Given the description of an element on the screen output the (x, y) to click on. 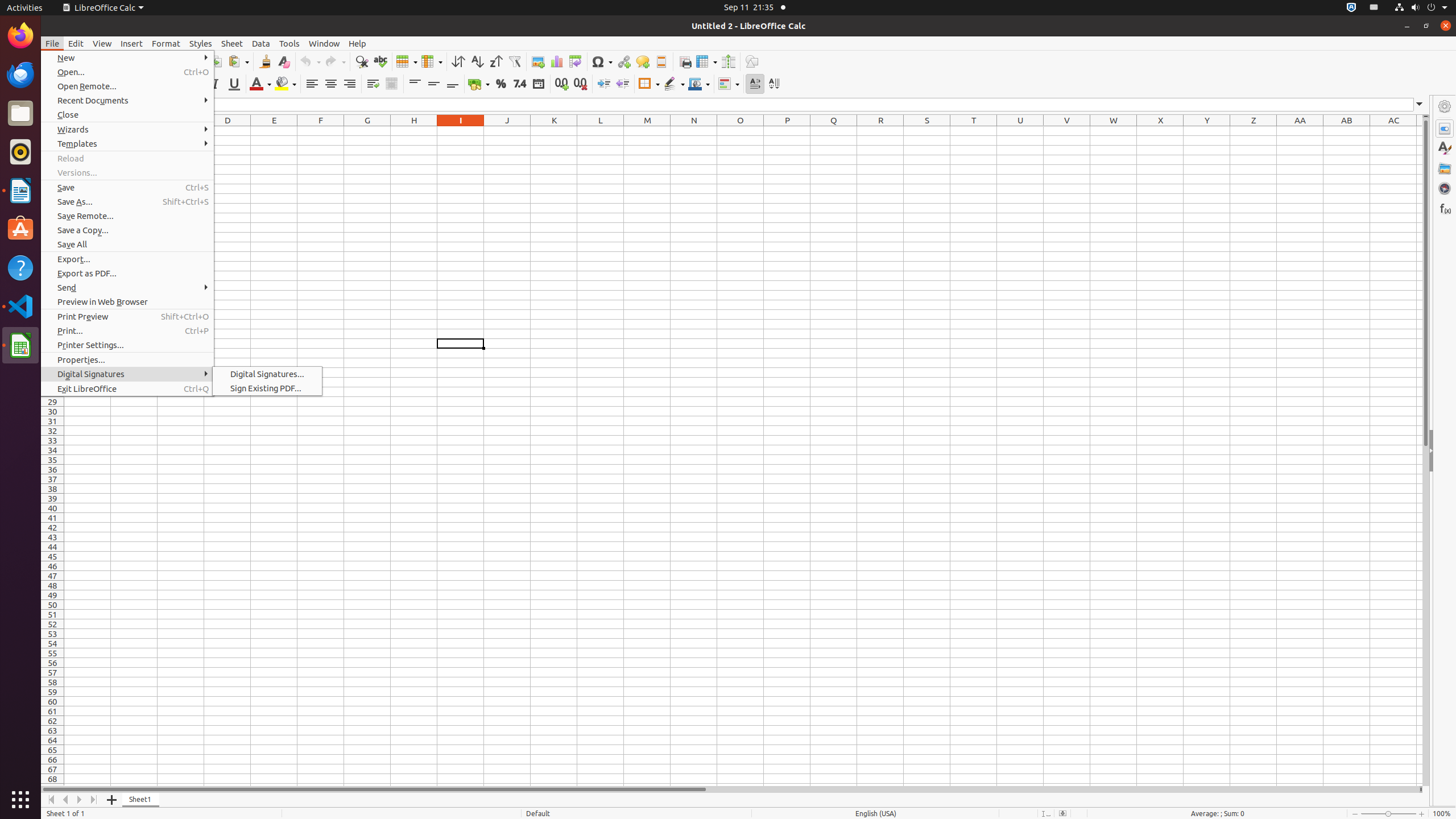
Draw Functions Element type: toggle-button (751, 61)
Background Color Element type: push-button (285, 83)
Versions... Element type: menu-item (126, 172)
Clear Element type: push-button (283, 61)
